Given the description of an element on the screen output the (x, y) to click on. 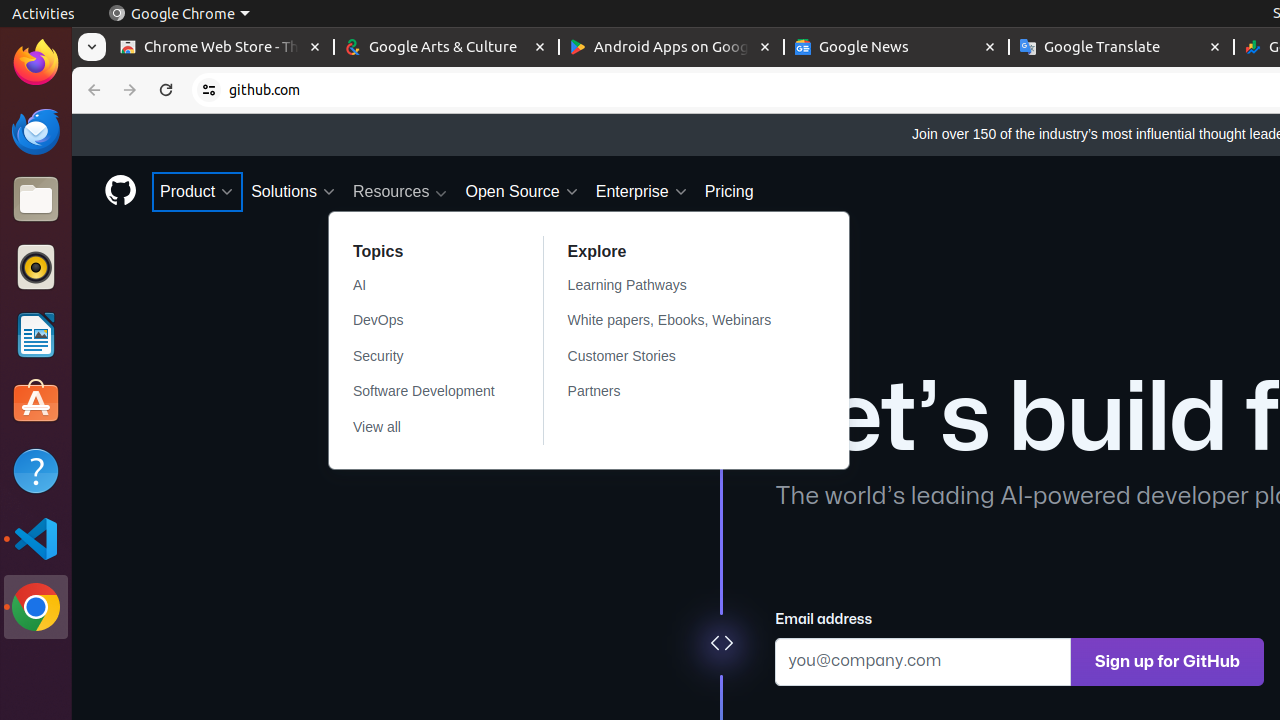
Skip to content Element type: link (72, 114)
Google Arts & Culture - Memory usage - 60.0 MB Element type: page-tab (446, 47)
Homepage Element type: link (120, 191)
Partners Element type: link (681, 392)
Files Element type: push-button (36, 199)
